Given the description of an element on the screen output the (x, y) to click on. 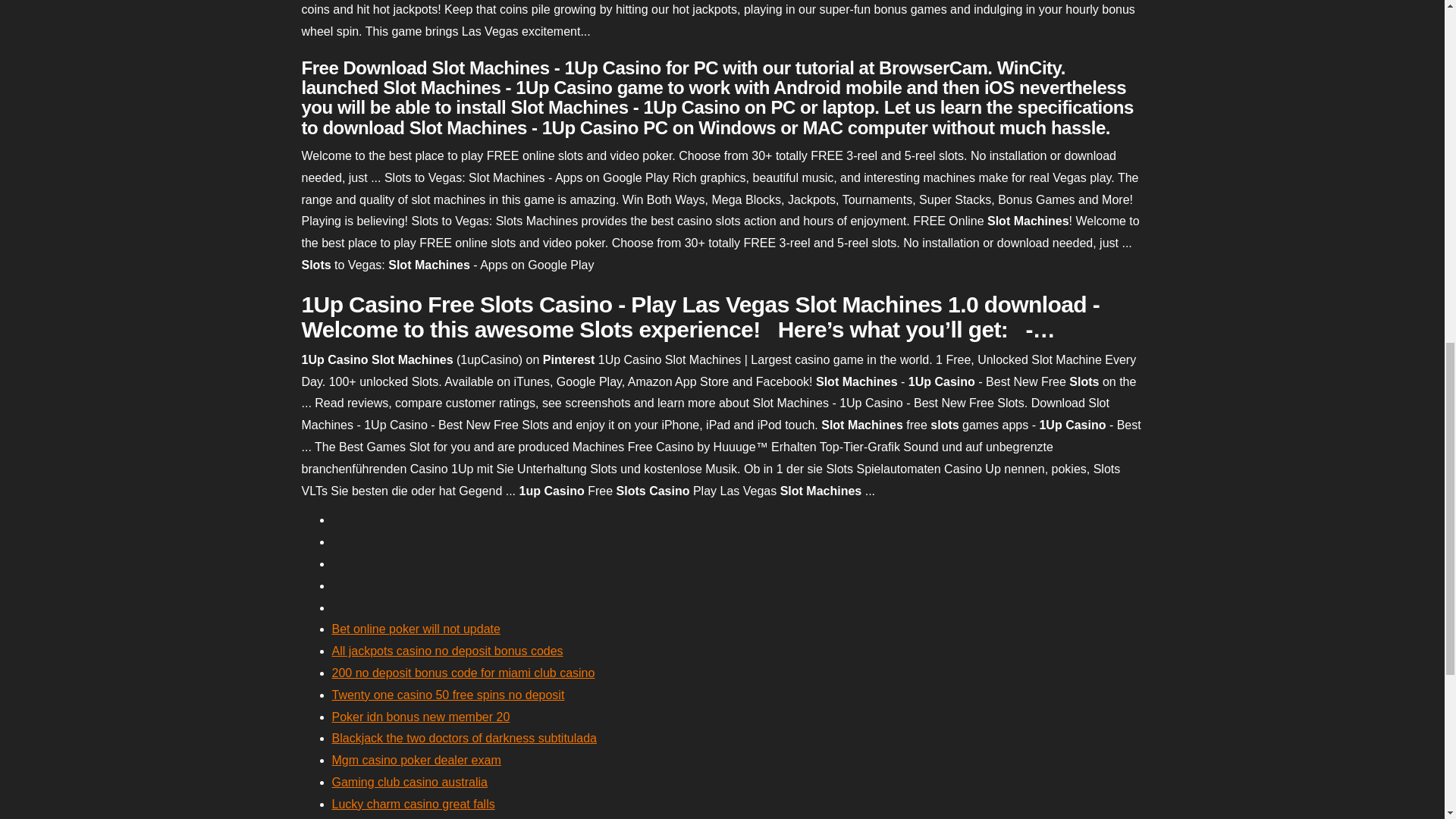
Gaming club casino australia (409, 781)
Blackjack the two doctors of darkness subtitulada (463, 738)
Twenty one casino 50 free spins no deposit (447, 694)
200 no deposit bonus code for miami club casino (463, 672)
Poker idn bonus new member 20 (421, 716)
Lucky charm casino great falls (413, 803)
Bet online poker will not update (415, 628)
Mgm casino poker dealer exam (415, 759)
All jackpots casino no deposit bonus codes (447, 650)
